Given the description of an element on the screen output the (x, y) to click on. 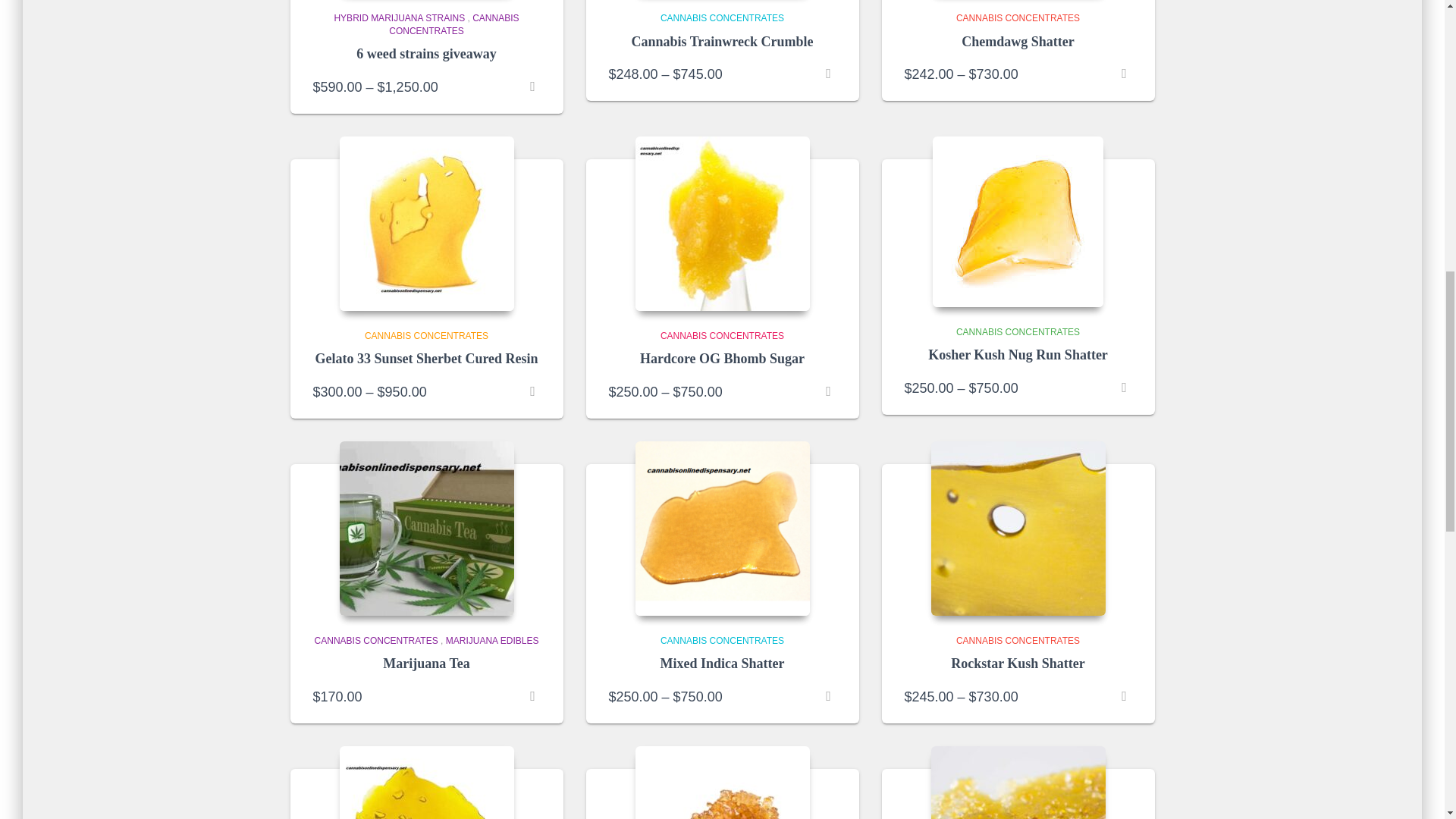
CANNABIS CONCENTRATES (453, 24)
HYBRID MARIJUANA STRAINS (398, 18)
